Given the description of an element on the screen output the (x, y) to click on. 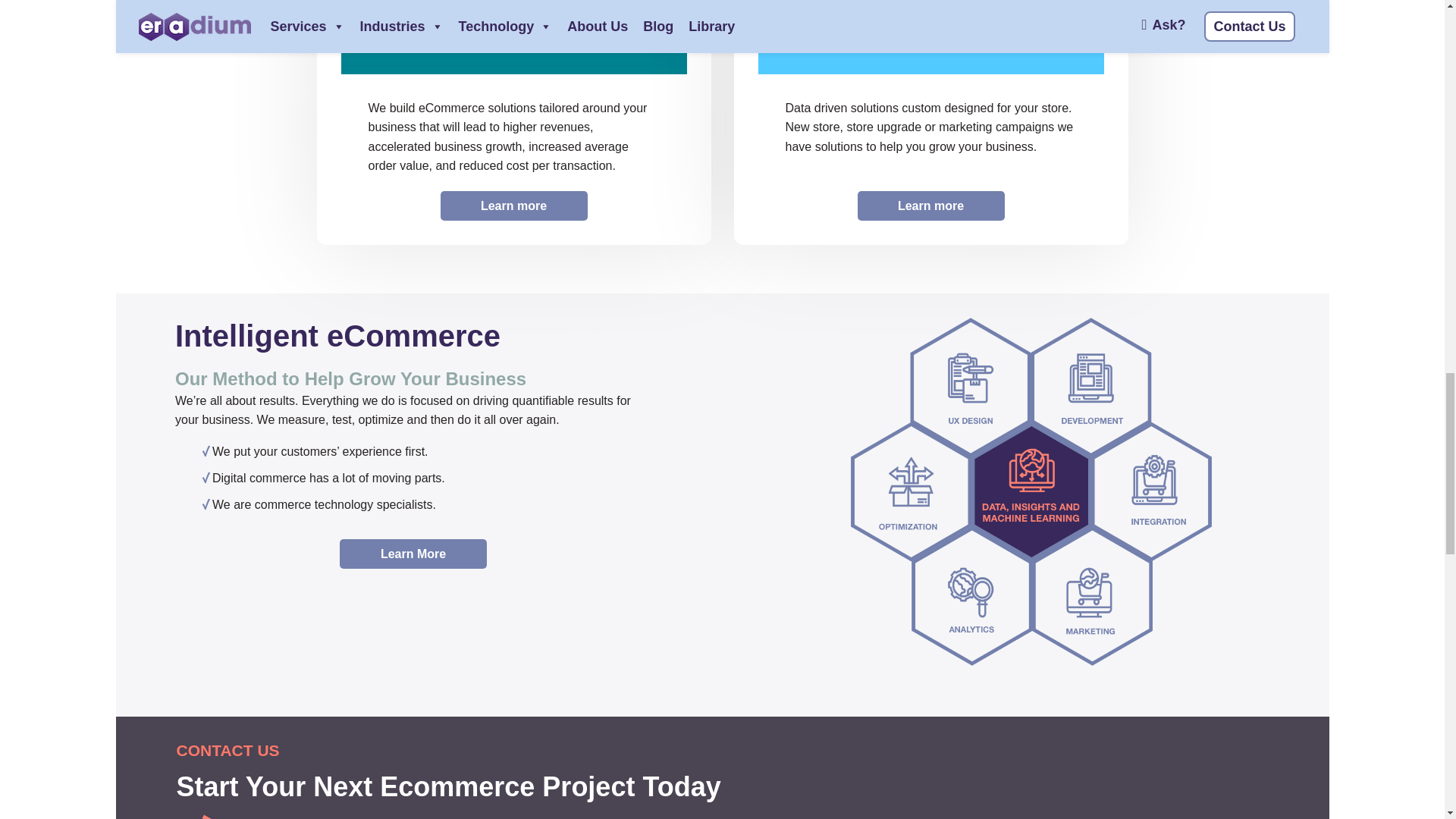
Learn more (512, 205)
Learn More (412, 553)
Learn more (930, 205)
